Given the description of an element on the screen output the (x, y) to click on. 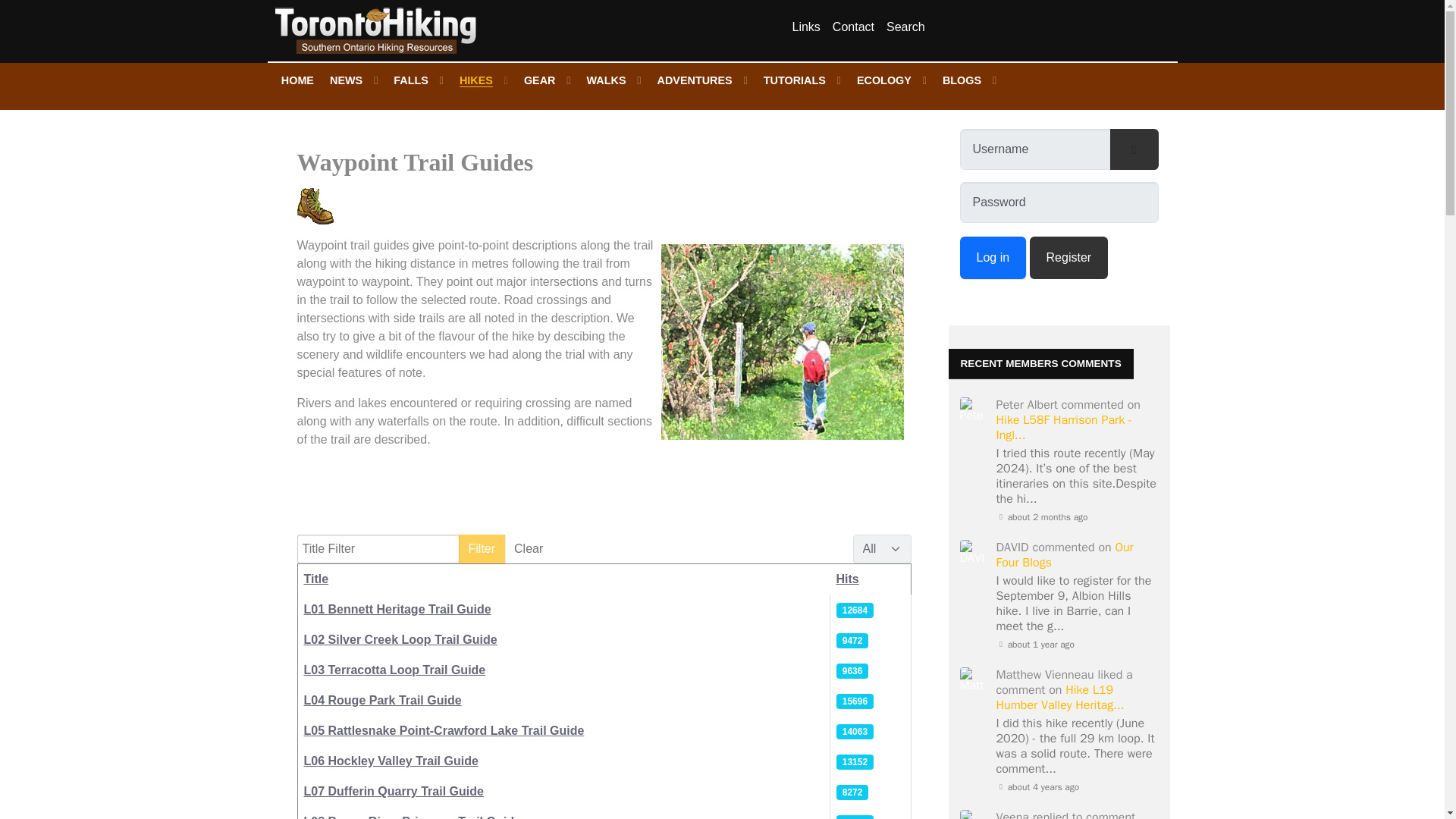
NEWS (354, 80)
Links (805, 26)
Select to sort by this column (315, 578)
WALKS (613, 80)
Username (1133, 148)
ADVENTURES (701, 80)
GEAR (547, 80)
HIKES (482, 80)
Select to sort by this column (847, 578)
Search (905, 26)
